Given the description of an element on the screen output the (x, y) to click on. 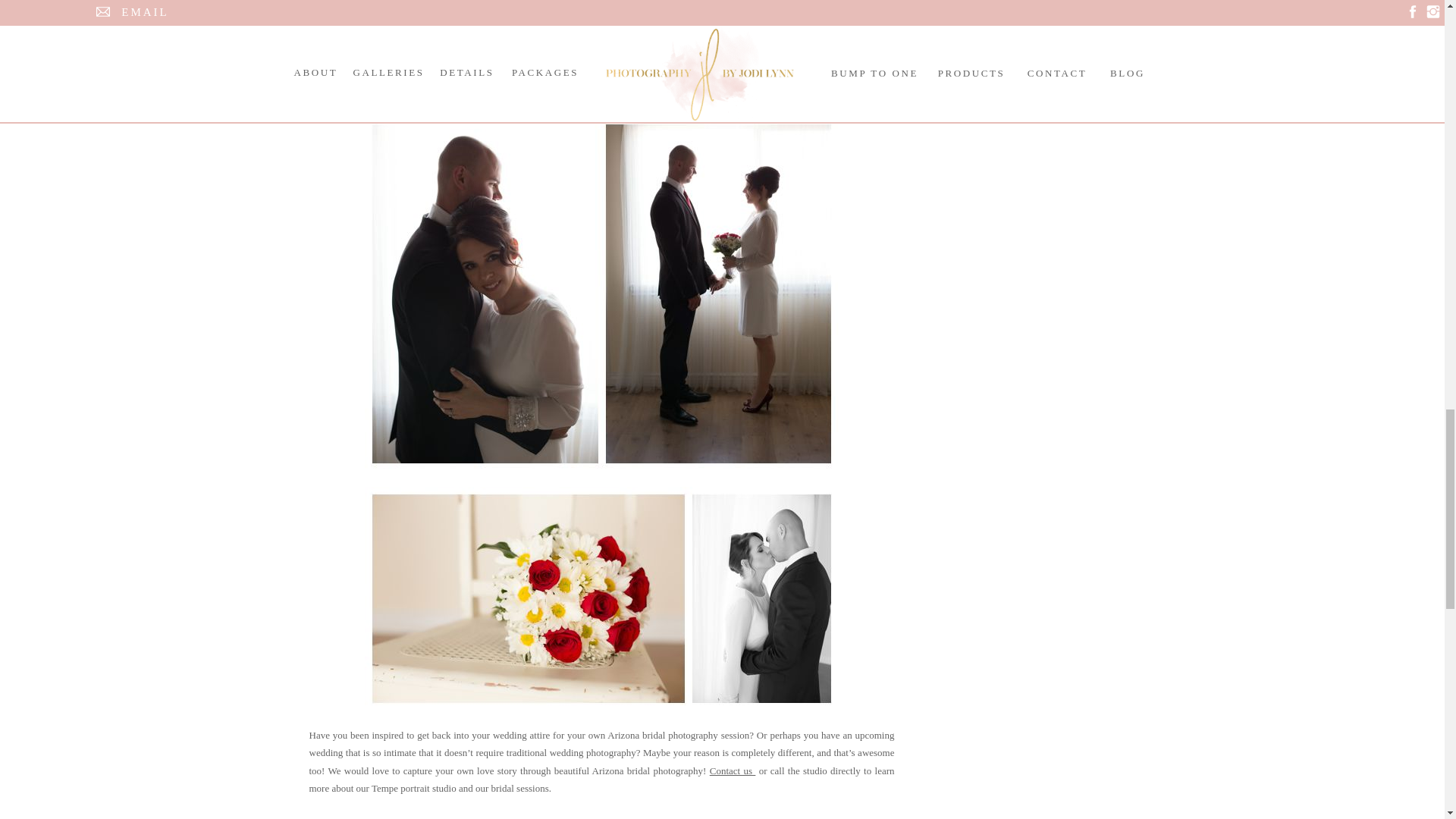
Contact us (732, 770)
